Given the description of an element on the screen output the (x, y) to click on. 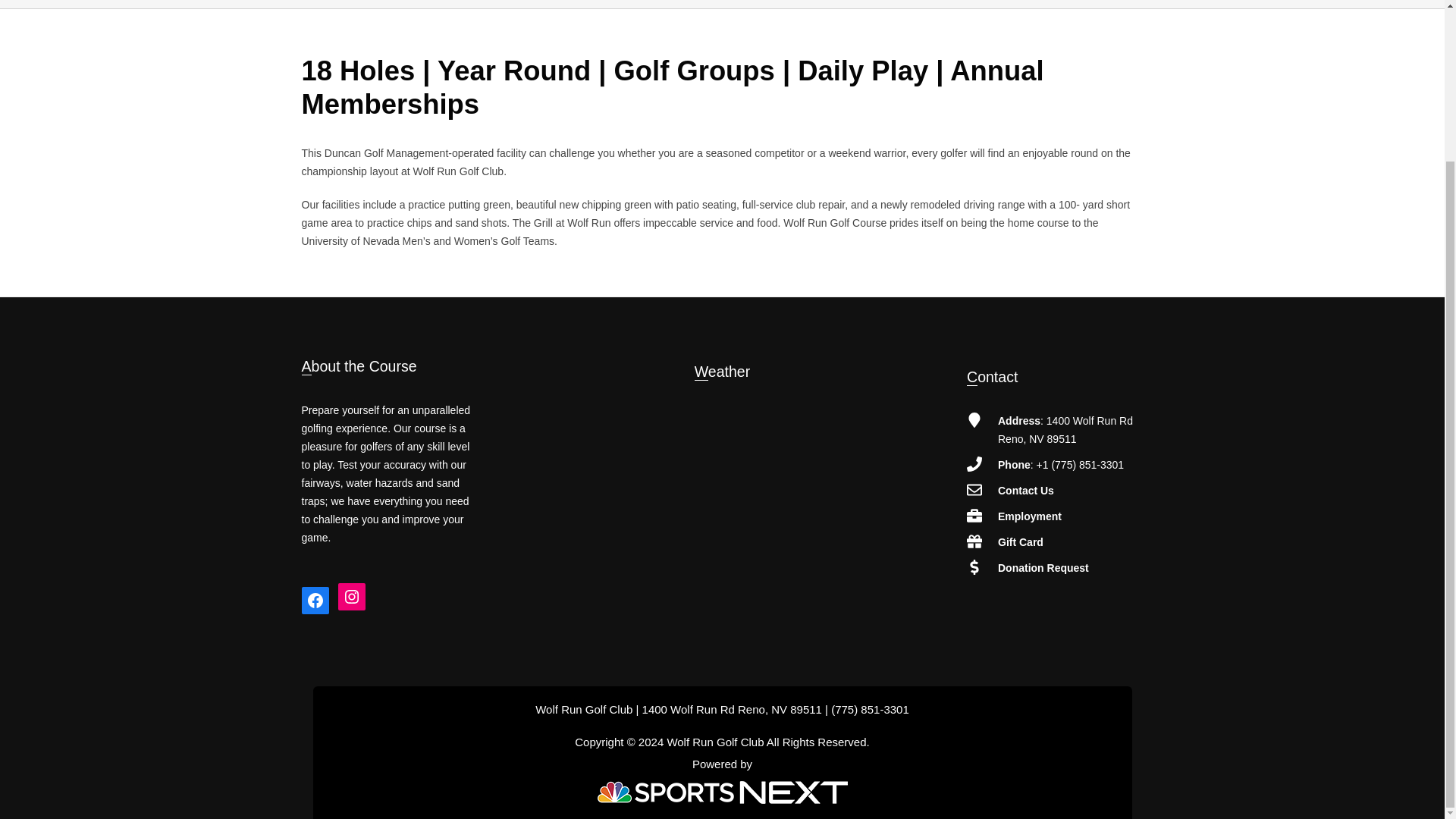
facebook (315, 600)
Gift Card (1020, 541)
Contact Us (1025, 490)
Employment (1029, 516)
Instagram (351, 596)
Donation Request (1043, 567)
